Given the description of an element on the screen output the (x, y) to click on. 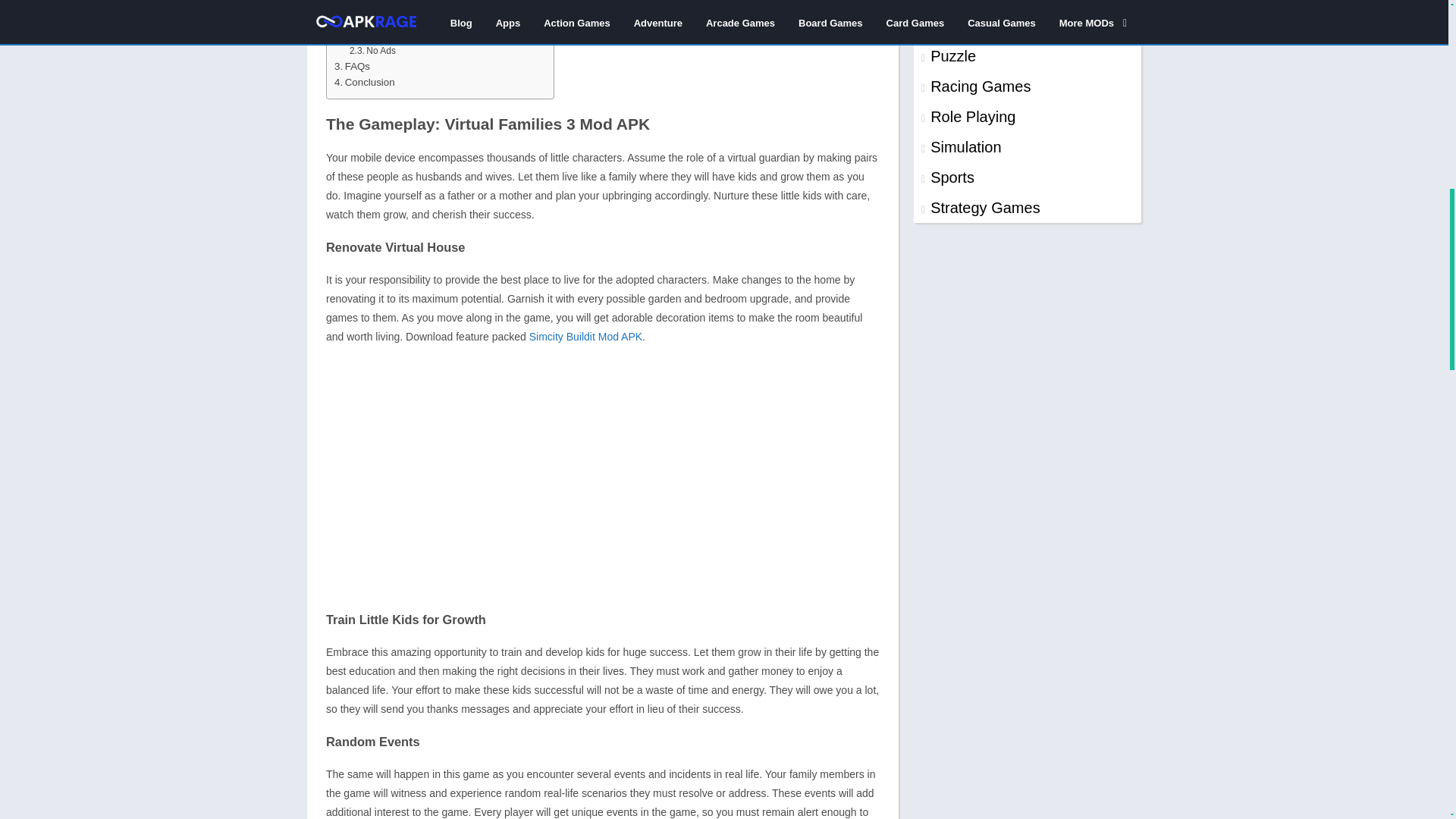
Unlimited Money (391, 22)
Unlocked All (382, 36)
Conclusion (364, 82)
Main Features: Virtual Families 3 Mod APK (435, 7)
No Ads (372, 51)
FAQs (351, 66)
